Given the description of an element on the screen output the (x, y) to click on. 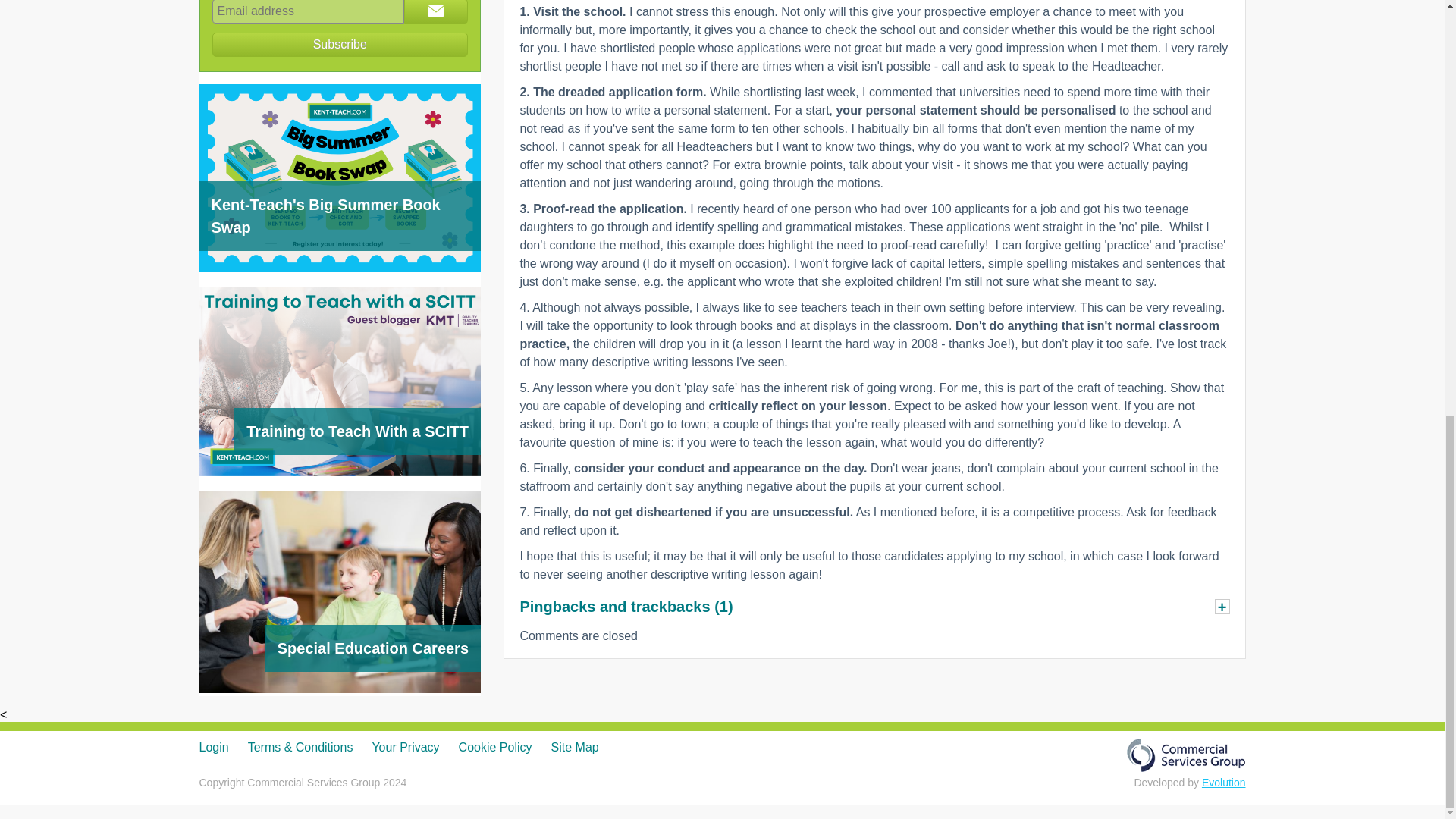
Subscribe (340, 44)
